Given the description of an element on the screen output the (x, y) to click on. 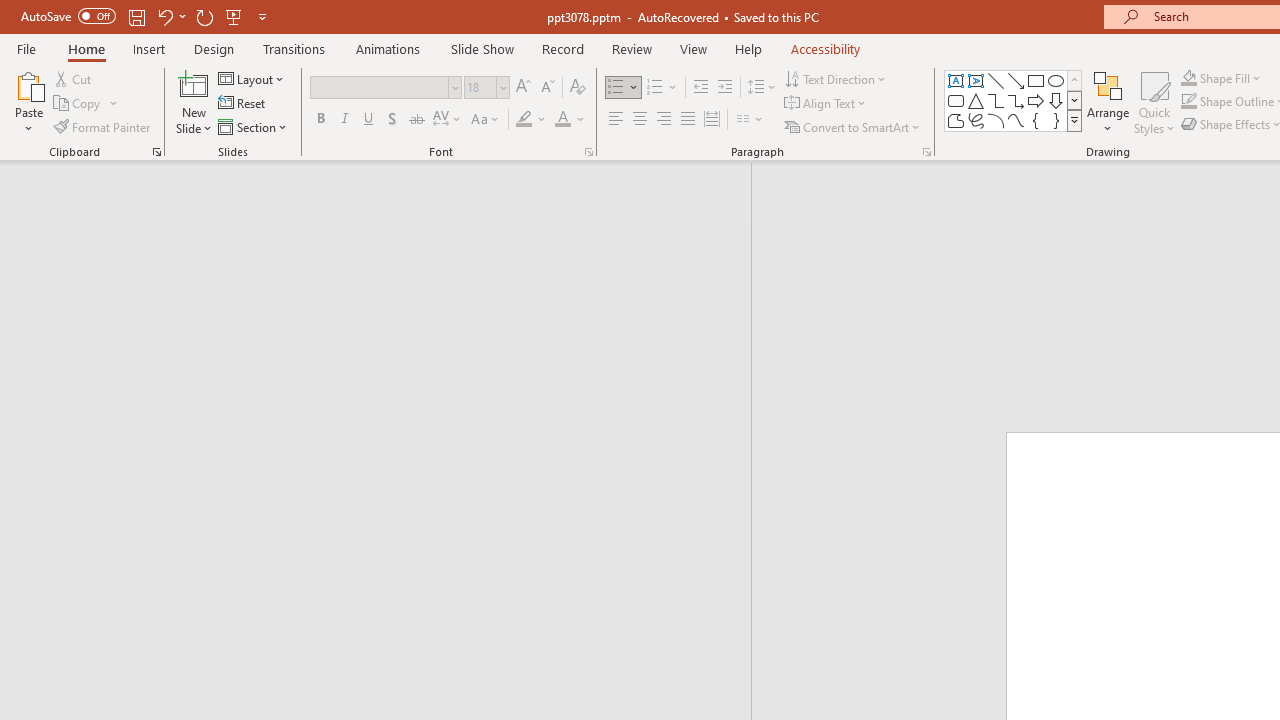
Oval (1055, 80)
Font Color (569, 119)
Font Size (480, 87)
Quick Styles (1154, 102)
New Slide (193, 84)
Bullets (623, 87)
Section (254, 126)
Isosceles Triangle (975, 100)
Align Text (826, 103)
Clear Formatting (577, 87)
AutomationID: ShapesInsertGallery (1014, 100)
Connector: Elbow (995, 100)
